Given the description of an element on the screen output the (x, y) to click on. 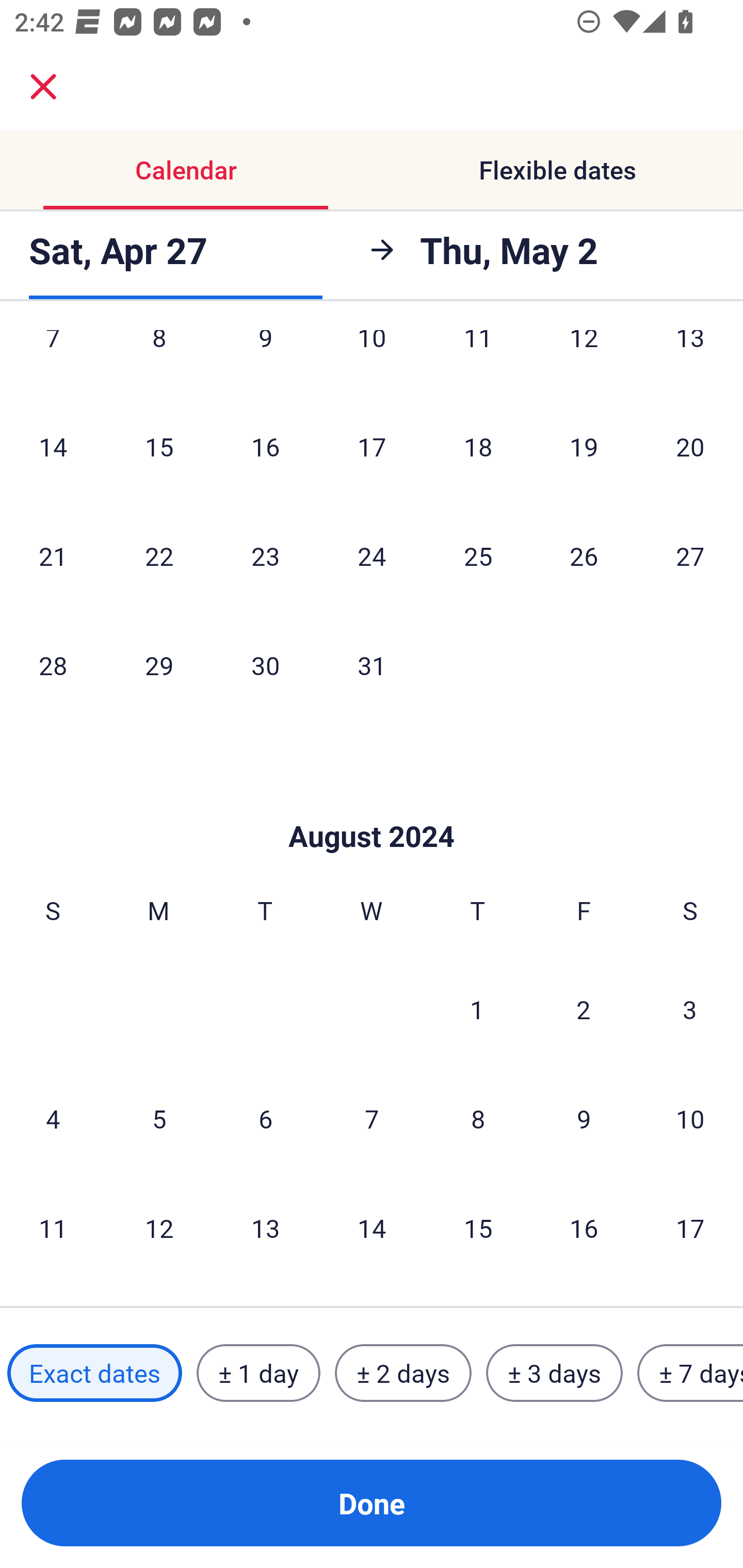
close. (43, 86)
Flexible dates (557, 170)
7 Sunday, July 7, 2024 (53, 360)
8 Monday, July 8, 2024 (159, 360)
9 Tuesday, July 9, 2024 (265, 360)
10 Wednesday, July 10, 2024 (371, 360)
11 Thursday, July 11, 2024 (477, 360)
12 Friday, July 12, 2024 (584, 360)
13 Saturday, July 13, 2024 (690, 360)
14 Sunday, July 14, 2024 (53, 445)
15 Monday, July 15, 2024 (159, 445)
16 Tuesday, July 16, 2024 (265, 445)
17 Wednesday, July 17, 2024 (371, 445)
18 Thursday, July 18, 2024 (477, 445)
19 Friday, July 19, 2024 (584, 445)
20 Saturday, July 20, 2024 (690, 445)
21 Sunday, July 21, 2024 (53, 555)
22 Monday, July 22, 2024 (159, 555)
23 Tuesday, July 23, 2024 (265, 555)
24 Wednesday, July 24, 2024 (371, 555)
25 Thursday, July 25, 2024 (477, 555)
26 Friday, July 26, 2024 (584, 555)
27 Saturday, July 27, 2024 (690, 555)
28 Sunday, July 28, 2024 (53, 664)
29 Monday, July 29, 2024 (159, 664)
30 Tuesday, July 30, 2024 (265, 664)
31 Wednesday, July 31, 2024 (371, 664)
Skip to Done (371, 805)
1 Thursday, August 1, 2024 (477, 1008)
2 Friday, August 2, 2024 (583, 1008)
3 Saturday, August 3, 2024 (689, 1008)
4 Sunday, August 4, 2024 (53, 1118)
5 Monday, August 5, 2024 (159, 1118)
6 Tuesday, August 6, 2024 (265, 1118)
7 Wednesday, August 7, 2024 (371, 1118)
8 Thursday, August 8, 2024 (477, 1118)
9 Friday, August 9, 2024 (584, 1118)
10 Saturday, August 10, 2024 (690, 1118)
11 Sunday, August 11, 2024 (53, 1227)
12 Monday, August 12, 2024 (159, 1227)
13 Tuesday, August 13, 2024 (265, 1227)
14 Wednesday, August 14, 2024 (371, 1227)
15 Thursday, August 15, 2024 (477, 1227)
16 Friday, August 16, 2024 (584, 1227)
17 Saturday, August 17, 2024 (690, 1227)
Exact dates (94, 1372)
± 1 day (258, 1372)
± 2 days (403, 1372)
± 3 days (553, 1372)
± 7 days (690, 1372)
Done (371, 1502)
